Given the description of an element on the screen output the (x, y) to click on. 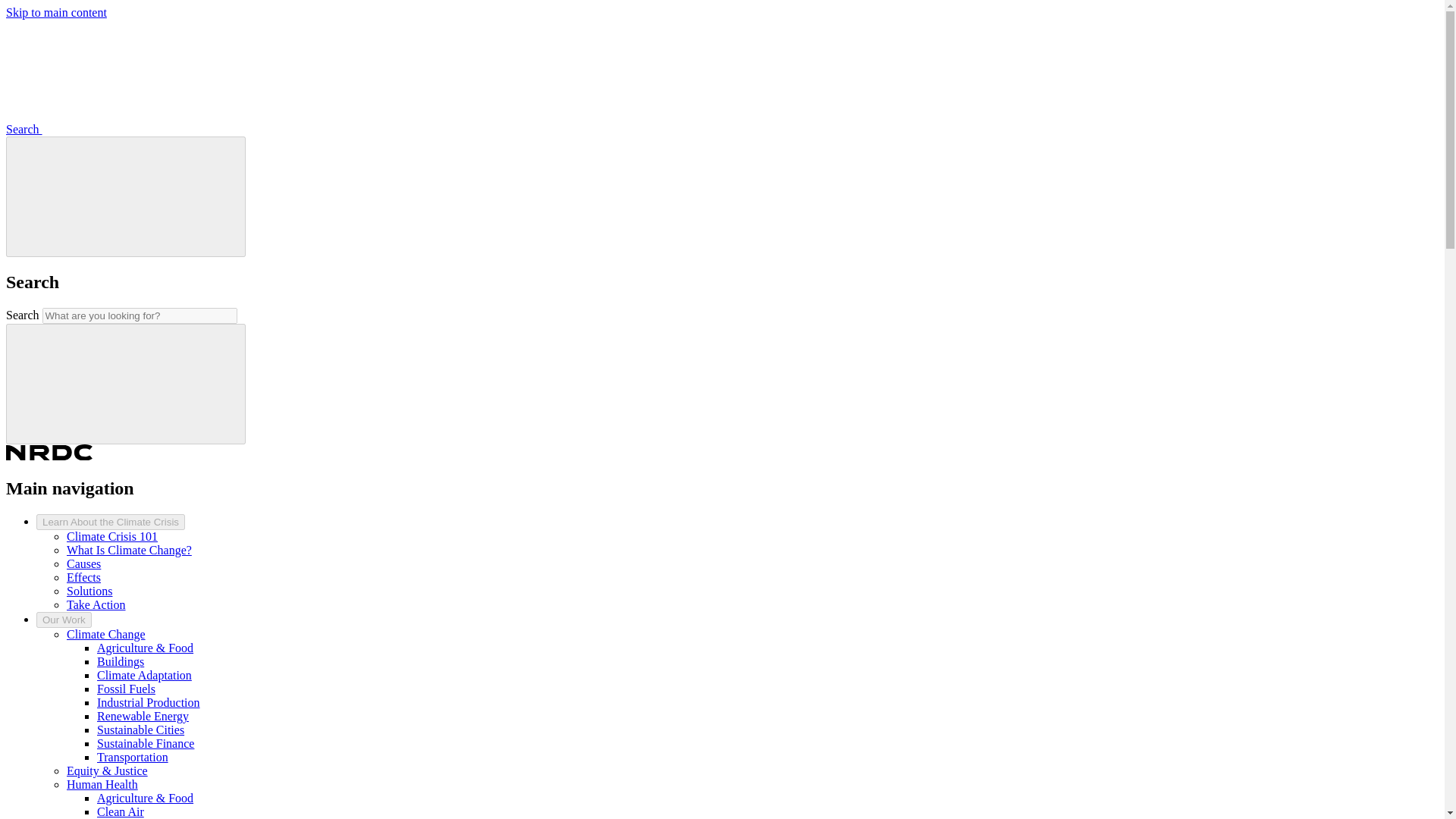
Our Work (63, 619)
Close search (125, 195)
Sustainable Finance (145, 743)
Causes (83, 563)
Fossil Fuels (126, 688)
NRDC (49, 455)
Climate Crisis 101 (111, 535)
Transportation (132, 757)
What Is Climate Change? (129, 549)
Search (137, 128)
